Given the description of an element on the screen output the (x, y) to click on. 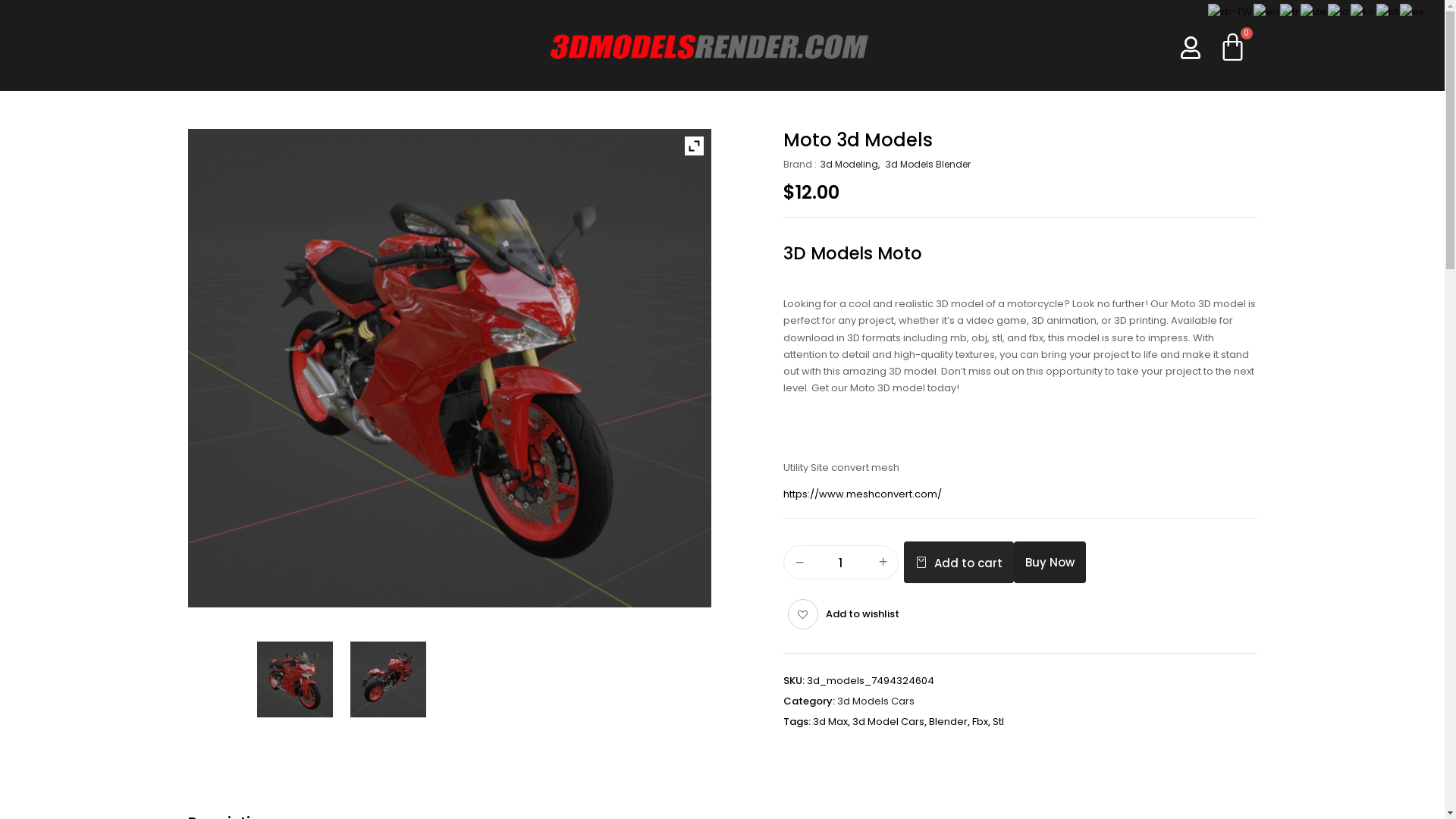
Add to wishlist Element type: text (842, 614)
3d Max Element type: text (829, 721)
moto_3d_models_download Element type: hover (295, 679)
3d Models Cars Element type: text (875, 700)
moto_3d_models_download Element type: hover (449, 367)
3d Modeling Element type: text (851, 164)
3d Models Blender Element type: text (927, 164)
Buy Now Element type: text (1049, 562)
Blender Element type: text (947, 721)
Add to cart Element type: text (958, 562)
+ Element type: text (882, 562)
Fbx Element type: text (980, 721)
English Element type: hover (1266, 11)
Qty Element type: hover (840, 563)
Moto 3d models 3 Element type: hover (388, 679)
3d Model Cars Element type: text (888, 721)
Deutsch Element type: hover (1313, 11)
https://www.meshconvert.com/ Element type: text (861, 493)
- Element type: text (799, 562)
Stl Element type: text (997, 721)
Moto 3d models 2 Element type: hover (294, 679)
moto_3d_models Element type: hover (388, 679)
